Given the description of an element on the screen output the (x, y) to click on. 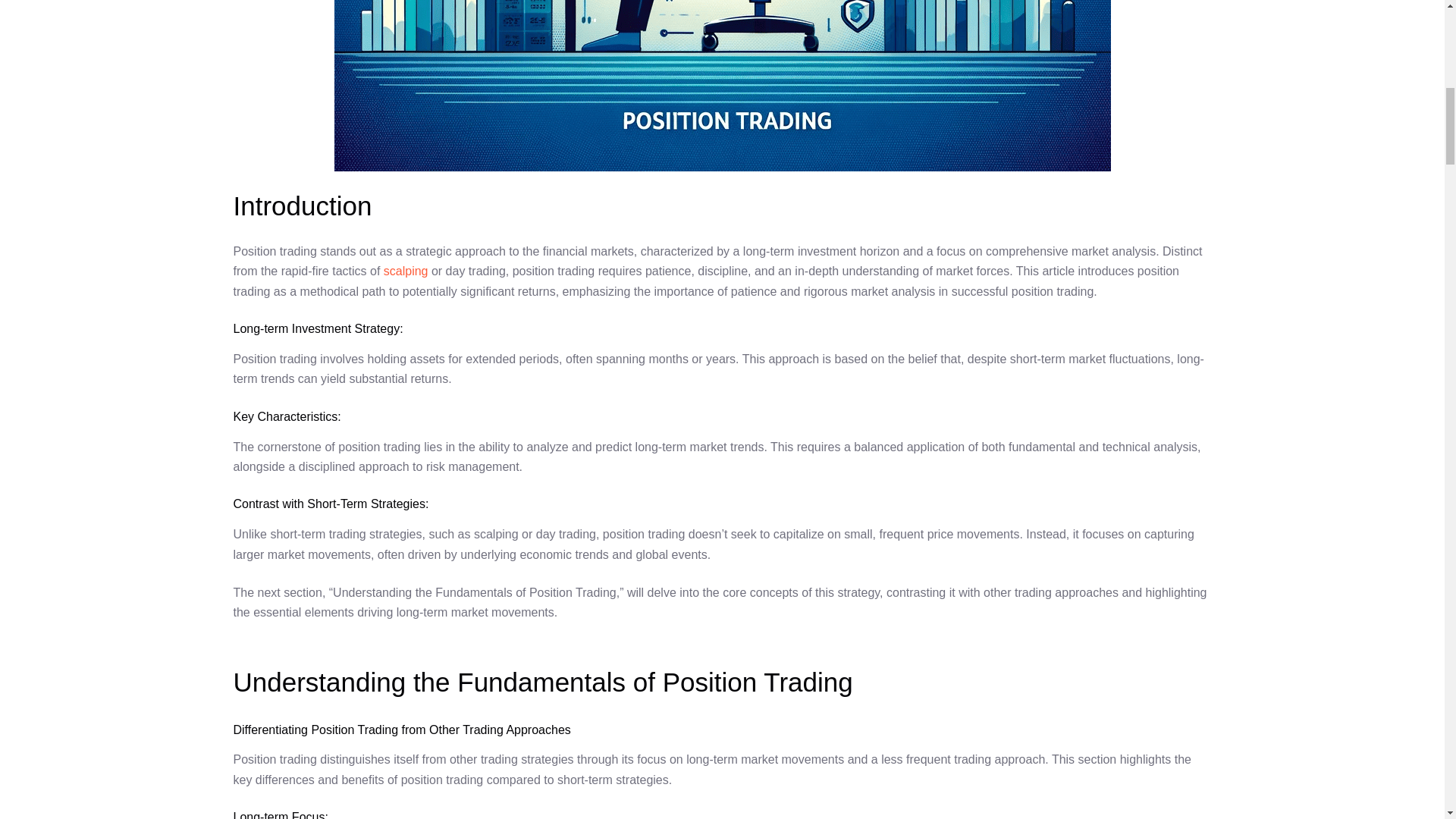
scalping (406, 270)
